Given the description of an element on the screen output the (x, y) to click on. 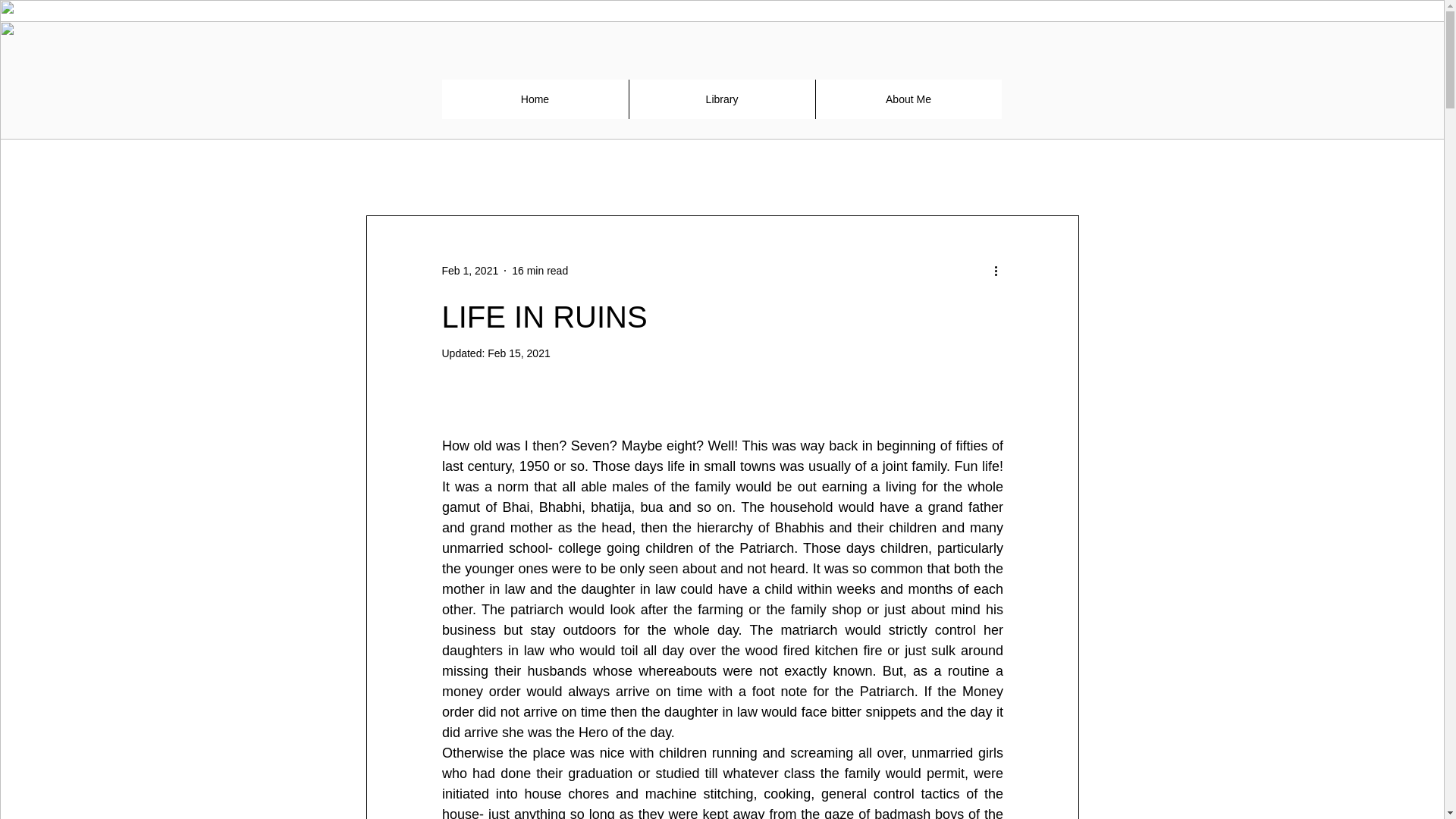
About Me (907, 98)
16 min read (539, 269)
Feb 1, 2021 (469, 269)
Home (534, 98)
Library (720, 98)
Feb 15, 2021 (518, 353)
